Given the description of an element on the screen output the (x, y) to click on. 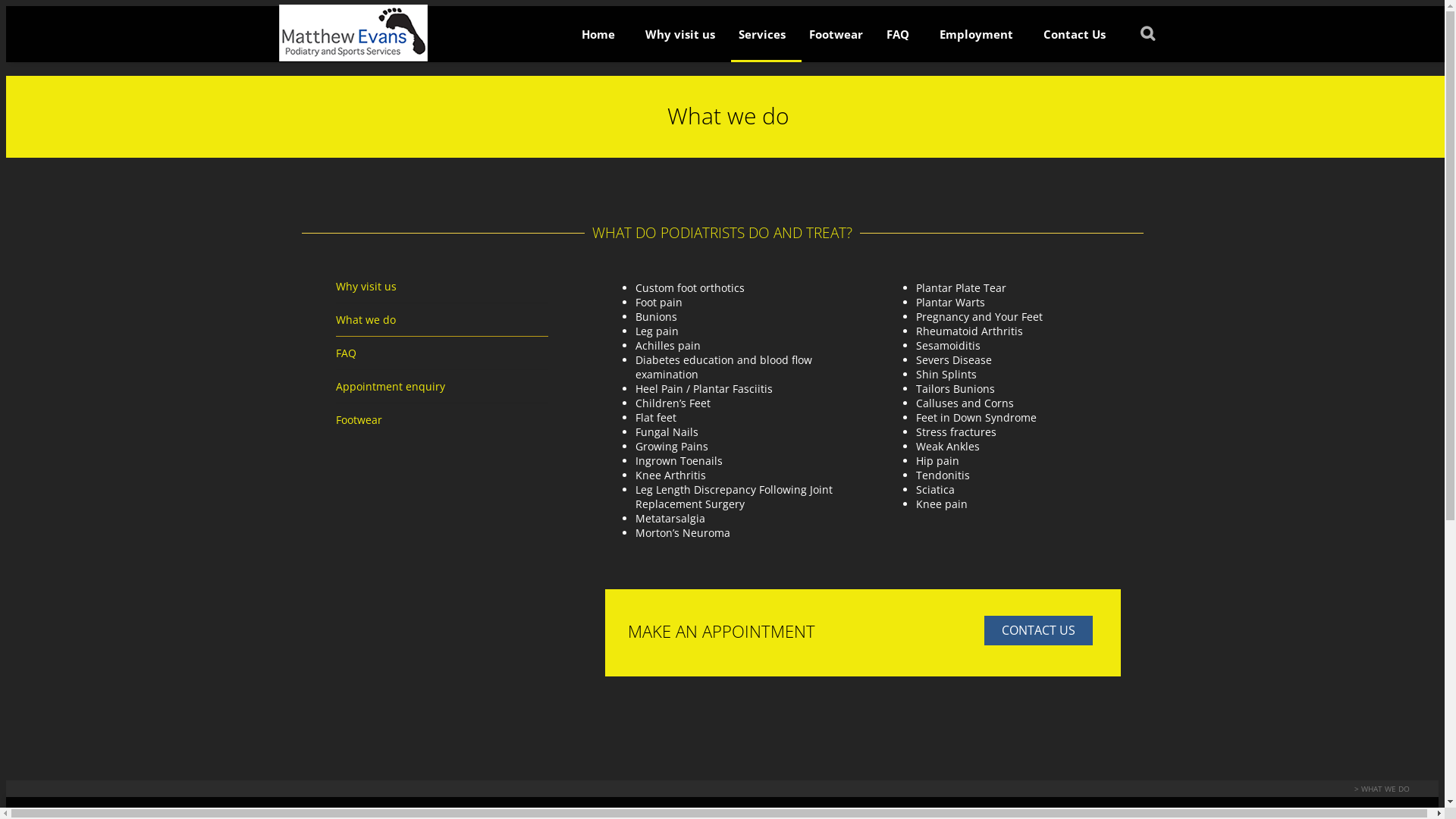
Contact Us Element type: text (1074, 39)
Footwear Element type: text (831, 39)
Appointment enquiry Element type: text (389, 386)
Employment Element type: text (975, 39)
Footwear Element type: text (358, 419)
FAQ Element type: text (345, 352)
Home Element type: text (597, 39)
Services Element type: text (758, 39)
CONTACT US Element type: text (1038, 630)
What we do Element type: text (365, 319)
Why visit us Element type: text (365, 286)
Search Element type: text (23, 9)
Why visit us Element type: text (676, 39)
FAQ Element type: text (897, 39)
